Given the description of an element on the screen output the (x, y) to click on. 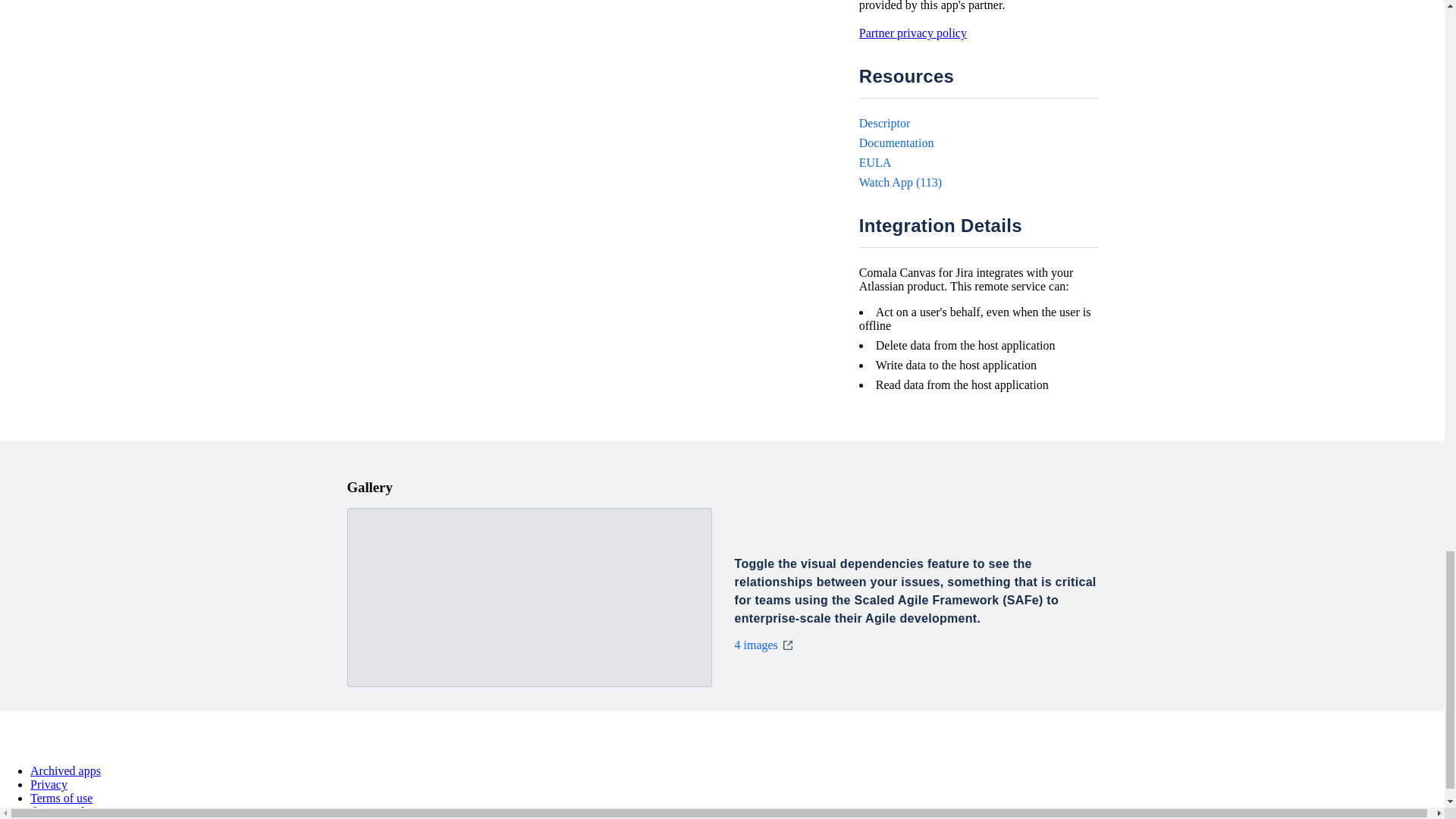
4 images (762, 644)
EULA (875, 162)
Privacy (48, 784)
Descriptor (885, 123)
Terms of use (61, 797)
Partner privacy policy (912, 32)
Archived apps (65, 770)
Documentation (896, 142)
